Given the description of an element on the screen output the (x, y) to click on. 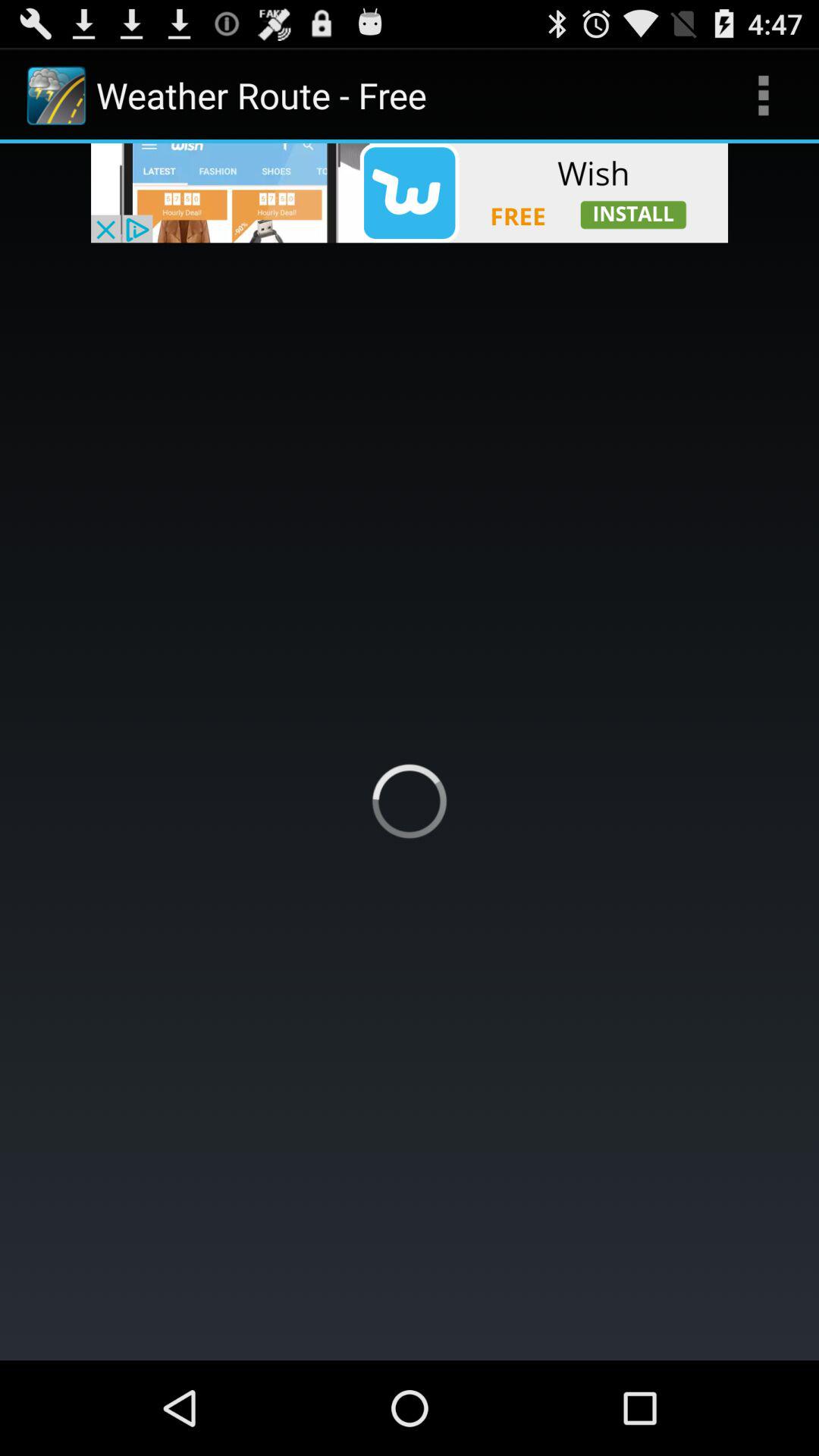
advertisement link (409, 192)
